Given the description of an element on the screen output the (x, y) to click on. 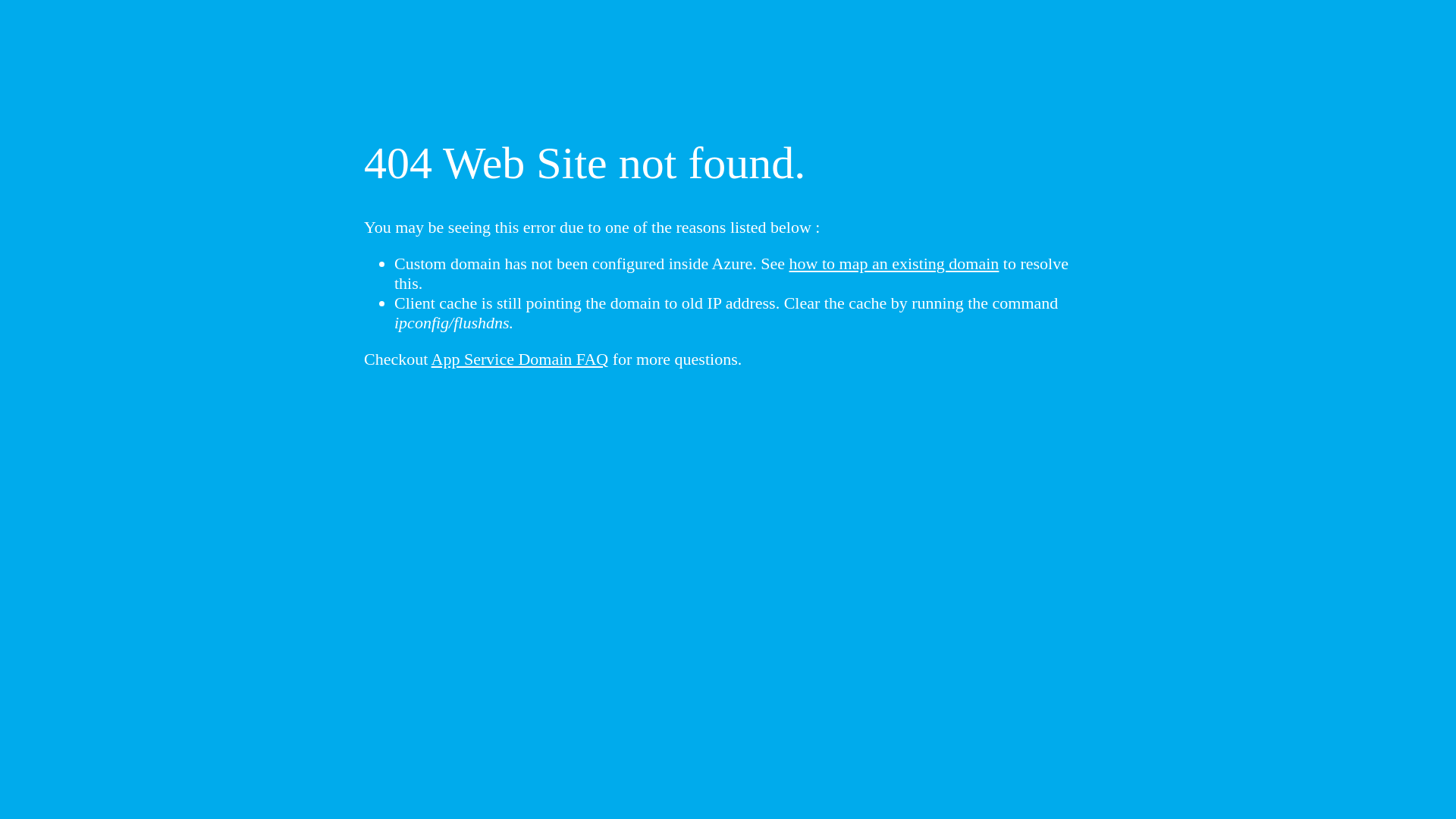
how to map an existing domain Element type: text (894, 263)
App Service Domain FAQ Element type: text (519, 358)
